Given the description of an element on the screen output the (x, y) to click on. 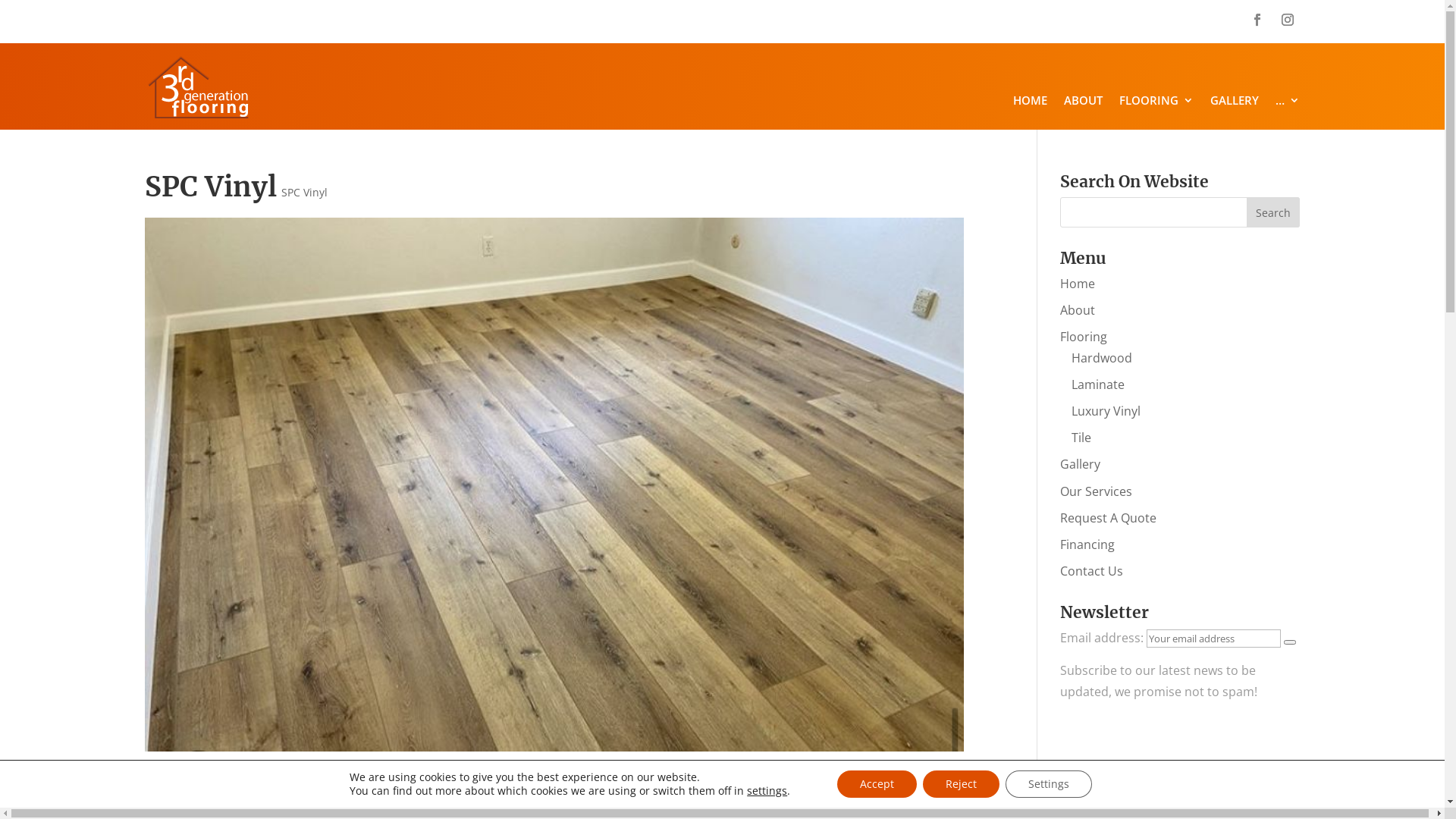
settings Element type: text (766, 790)
Flooring Element type: text (1083, 336)
HOME Element type: text (1030, 102)
Request A Quote Element type: text (1108, 517)
Reject Element type: text (960, 783)
Sign up Element type: text (1289, 642)
Accept Element type: text (876, 783)
Follow on Instagram Element type: hover (1287, 19)
Luxury Vinyl Element type: text (1105, 410)
Search Element type: text (1272, 212)
Contact Us Element type: text (1091, 570)
3rdgen_logo Element type: hover (197, 87)
About Element type: text (1077, 309)
SPC Vinyl Element type: text (303, 192)
Our Services Element type: text (1096, 490)
Follow on Facebook Element type: hover (1257, 19)
Home Element type: text (1077, 283)
FLOORING Element type: text (1156, 102)
GALLERY Element type: text (1234, 102)
Laminate Element type: text (1097, 384)
Financing Element type: text (1087, 544)
Hardwood Element type: text (1101, 357)
Tile Element type: text (1081, 437)
Gallery Element type: text (1080, 463)
ABOUT Element type: text (1082, 102)
Settings Element type: text (1048, 783)
